Given the description of an element on the screen output the (x, y) to click on. 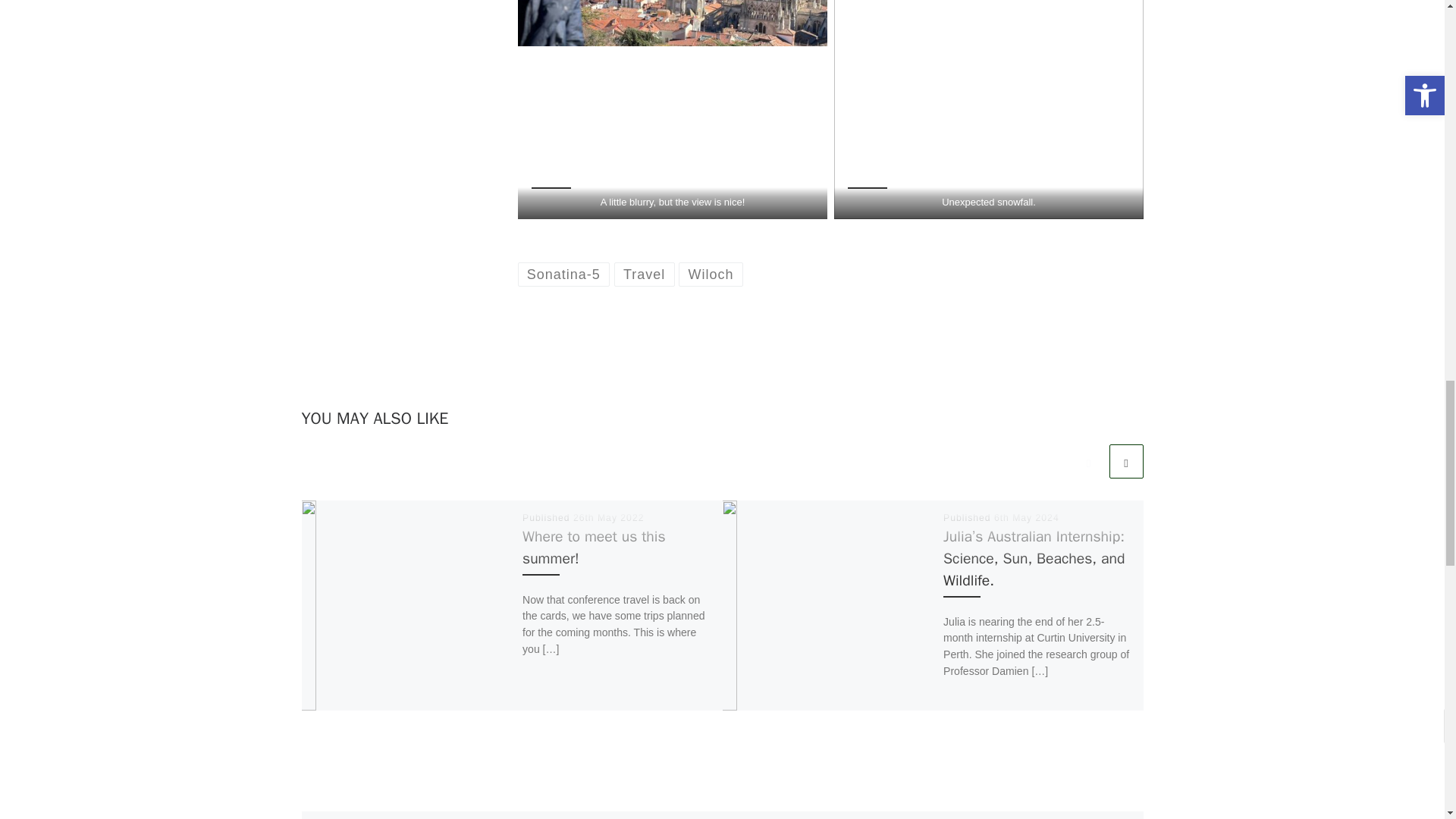
Next related articles (1125, 461)
View all posts in Sonatina-5 (563, 273)
View all posts in Travel (644, 273)
Previous related articles (1088, 461)
View all posts in Wiloch (710, 273)
